Given the description of an element on the screen output the (x, y) to click on. 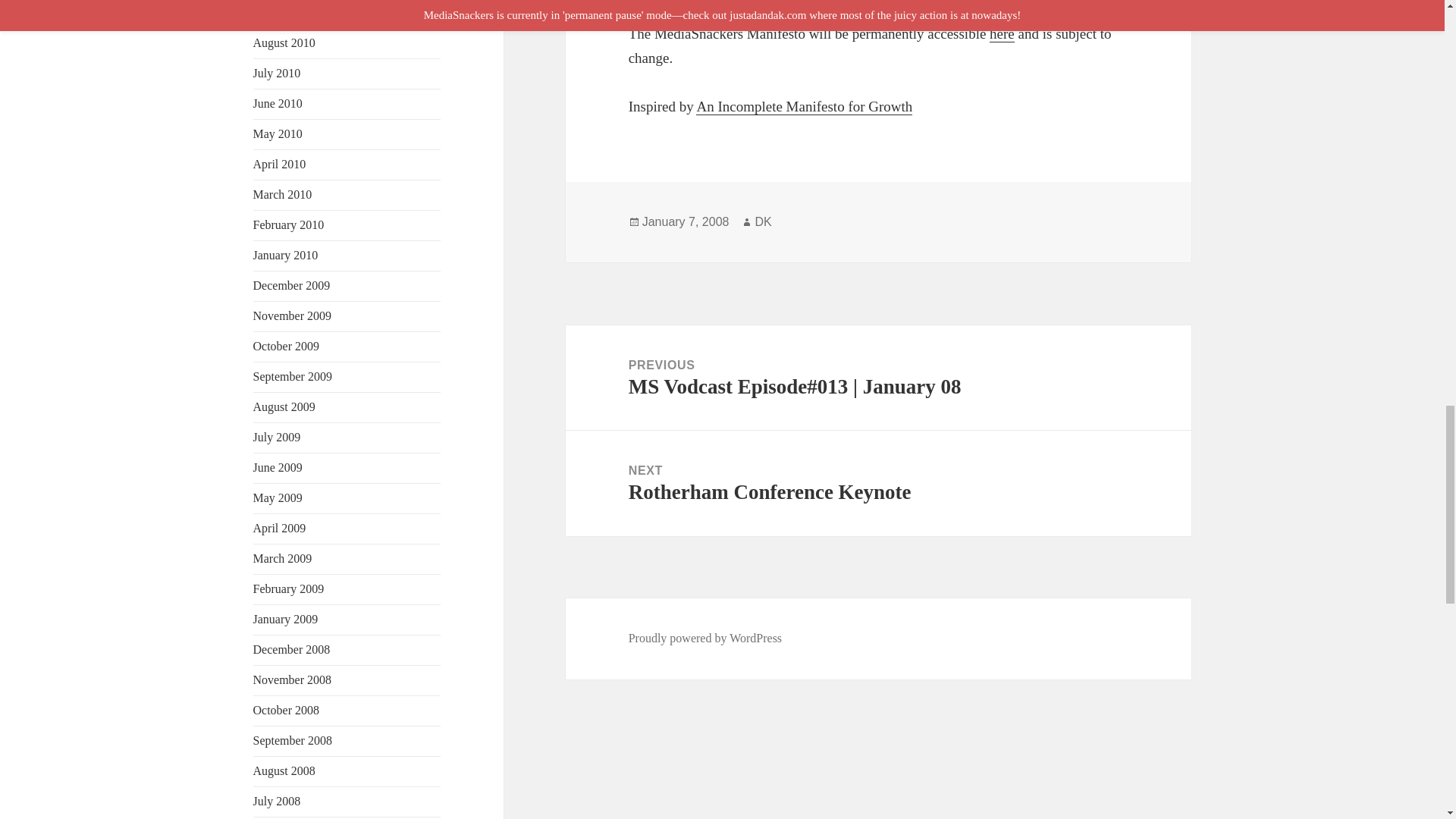
September 2010 (292, 11)
July 2010 (277, 72)
August 2010 (284, 42)
